Given the description of an element on the screen output the (x, y) to click on. 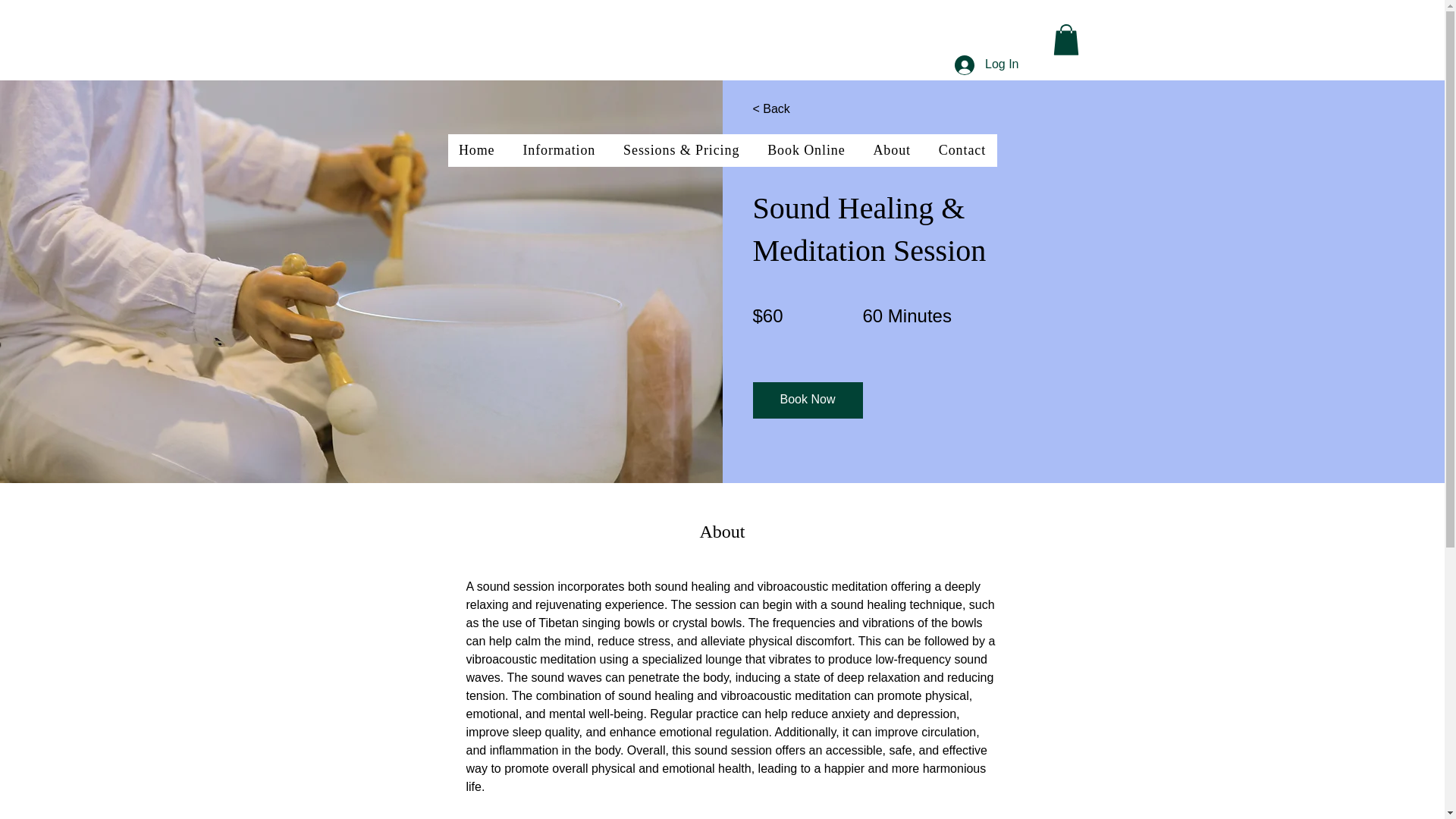
About (891, 150)
Information (559, 150)
Log In (986, 64)
Book Online (806, 150)
Book Now (806, 400)
Contact (961, 150)
Home (475, 150)
